Given the description of an element on the screen output the (x, y) to click on. 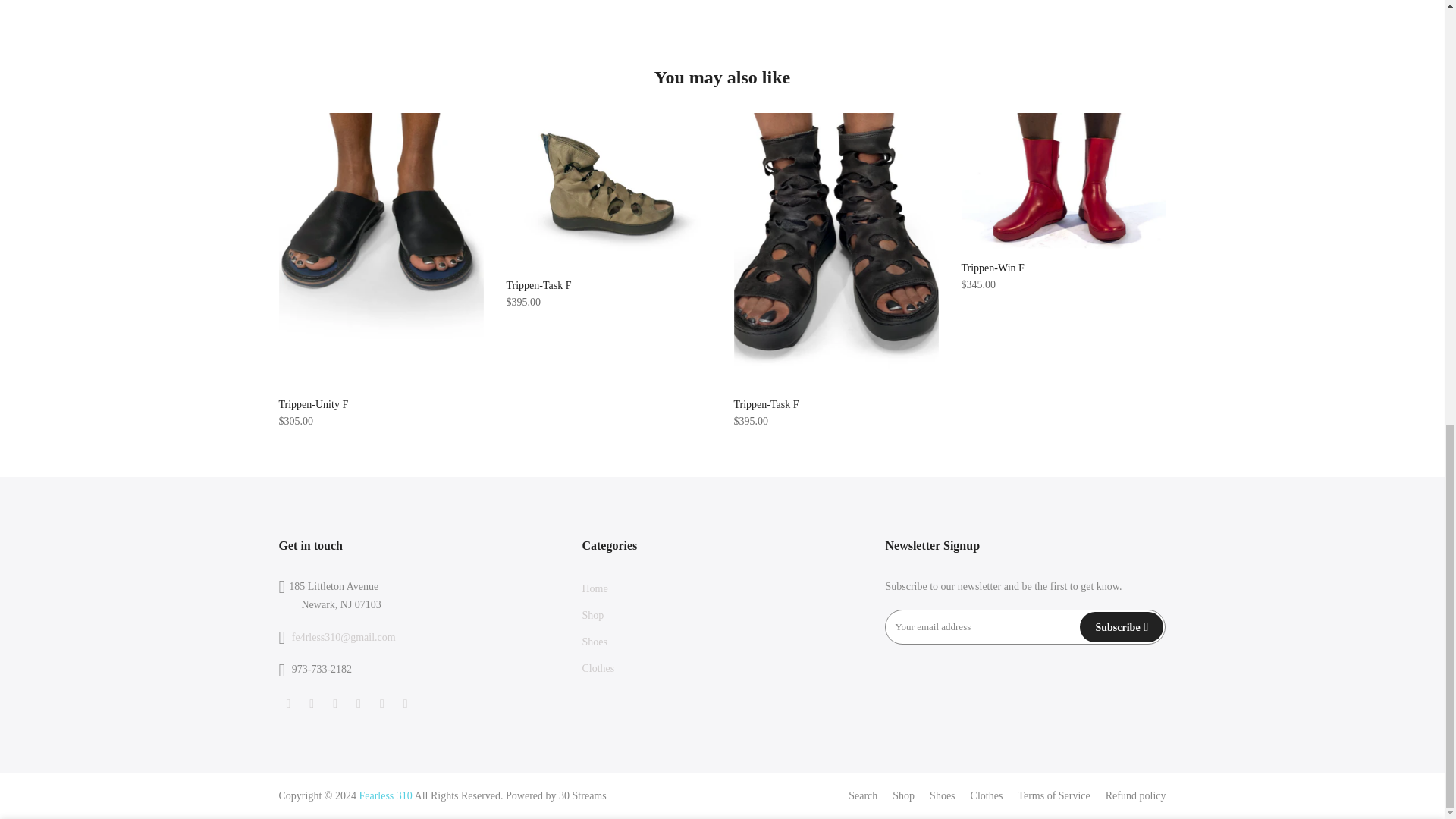
Trippen-Unity F (314, 404)
